Given the description of an element on the screen output the (x, y) to click on. 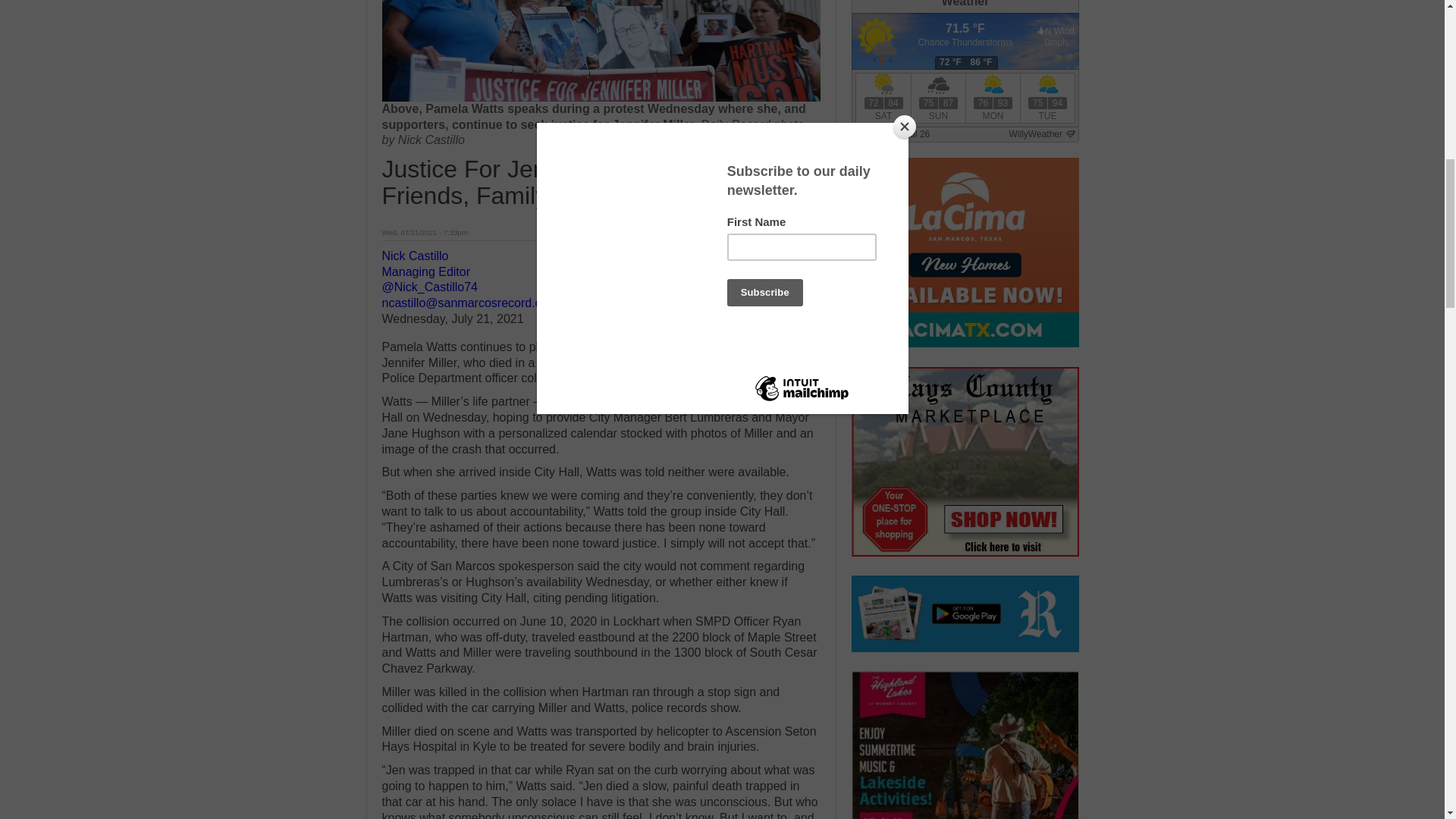
Nick Castillo (414, 255)
Managing Editor (425, 271)
